Given the description of an element on the screen output the (x, y) to click on. 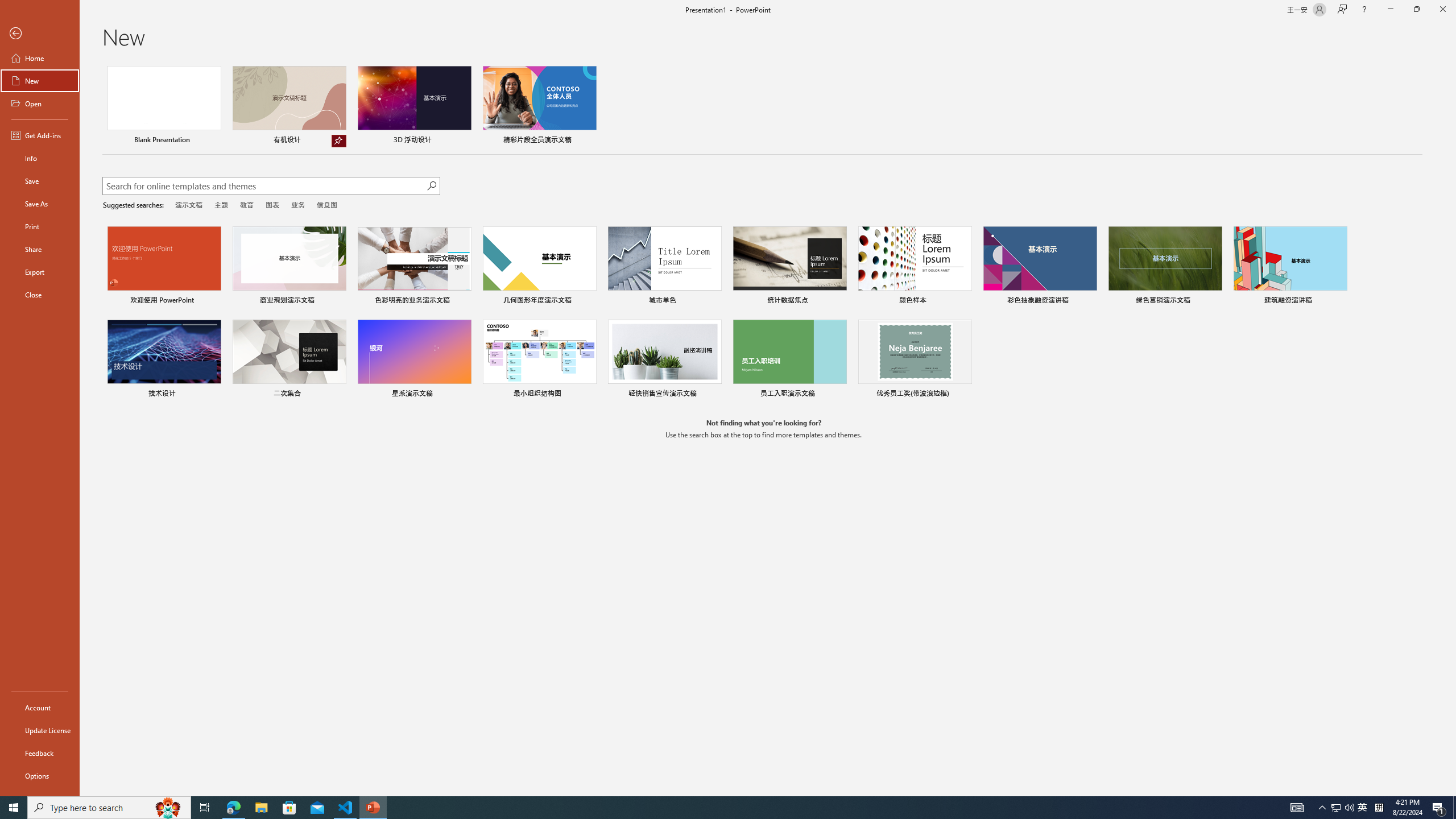
Update License (40, 730)
Info (40, 157)
Save As (40, 203)
